Given the description of an element on the screen output the (x, y) to click on. 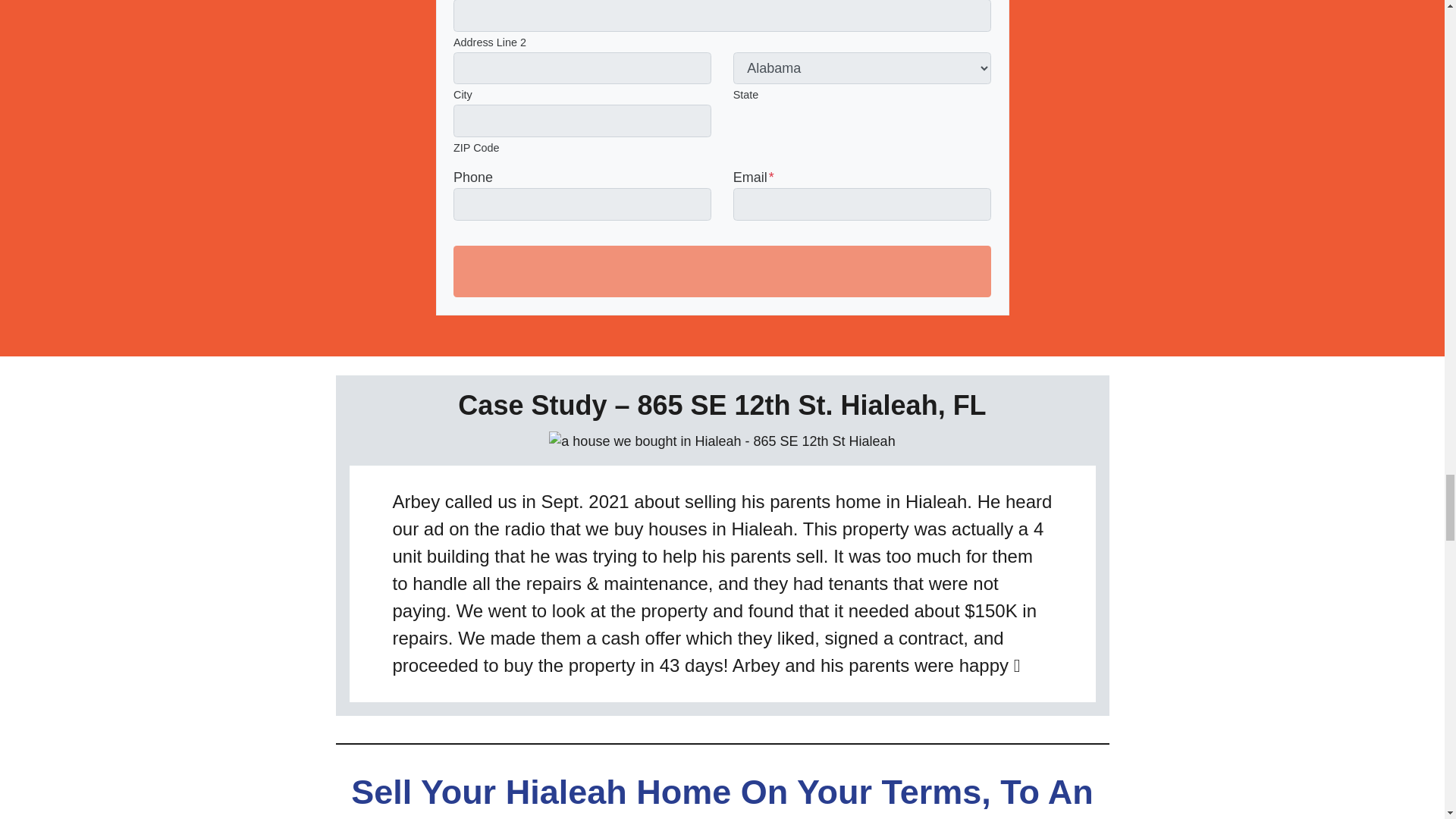
Get My Cash Offer Now! (721, 271)
